Given the description of an element on the screen output the (x, y) to click on. 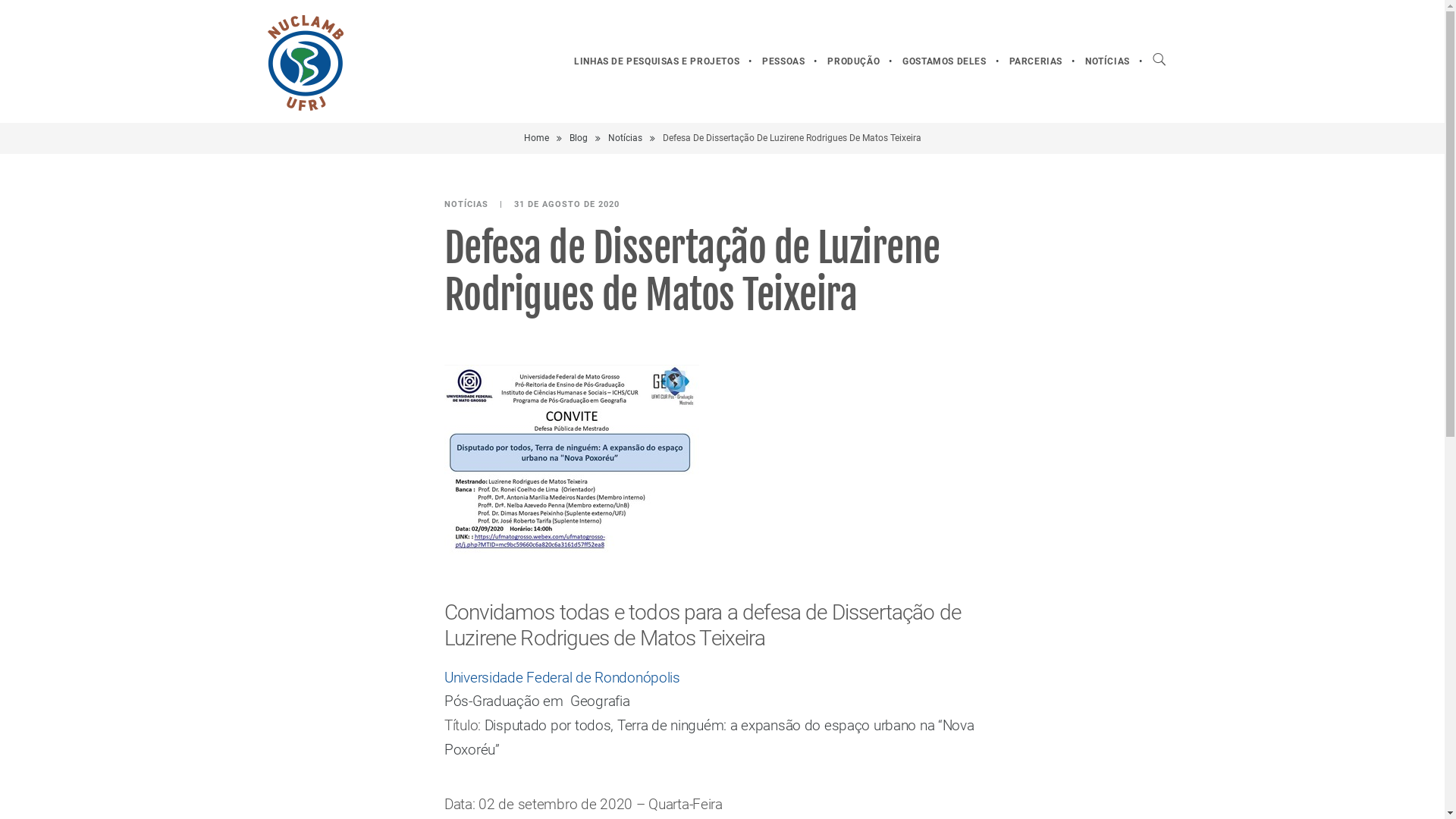
LINHAS DE PESQUISAS E PROJETOS Element type: text (656, 61)
PESSOAS Element type: text (782, 61)
GOSTAMOS DELES Element type: text (944, 61)
PARCERIAS Element type: text (1035, 61)
Blog Element type: text (577, 137)
Home Element type: text (535, 137)
